Given the description of an element on the screen output the (x, y) to click on. 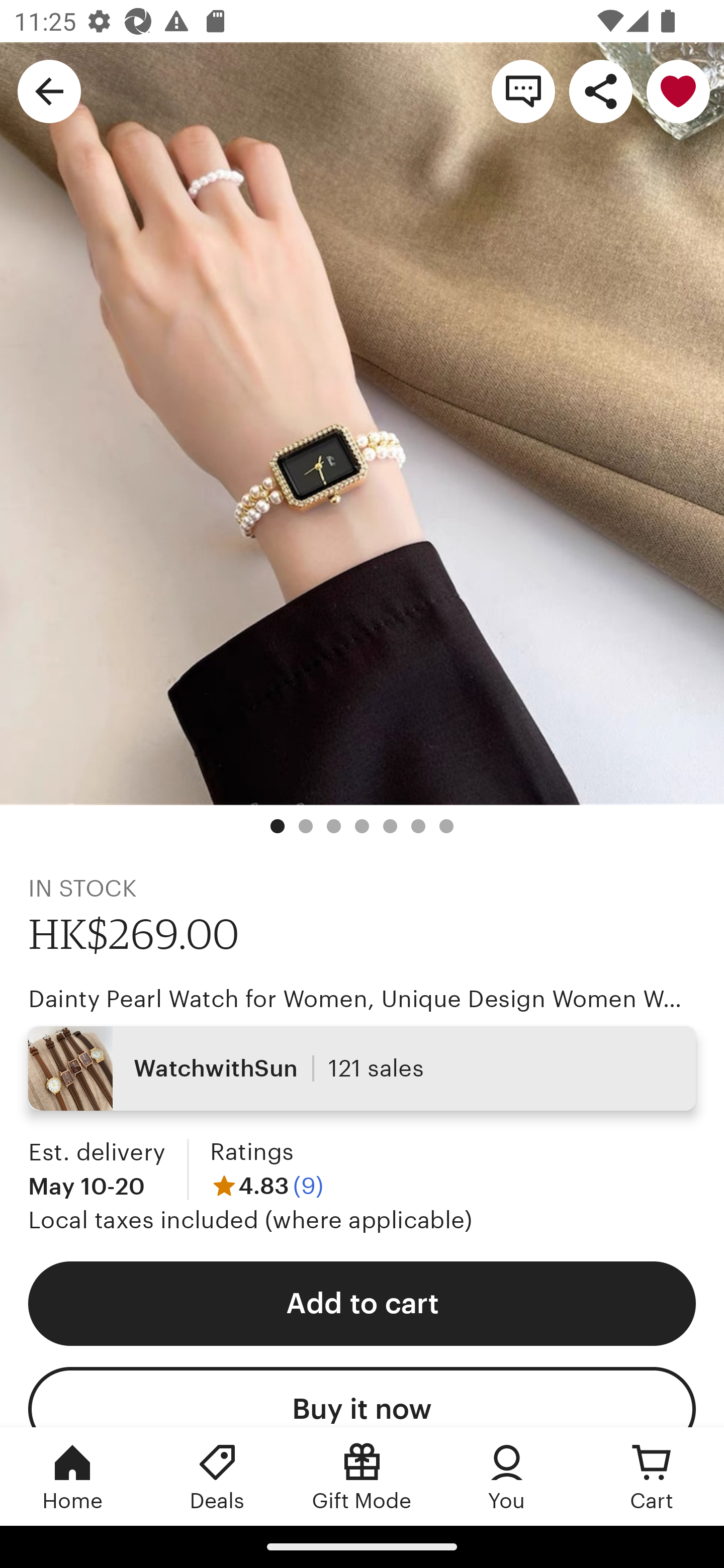
Navigate up (49, 90)
Contact shop (523, 90)
Share (600, 90)
WatchwithSun 121 sales (361, 1067)
Ratings (251, 1151)
4.83 (9) (266, 1185)
Add to cart (361, 1302)
Buy it now (361, 1396)
Deals (216, 1475)
Gift Mode (361, 1475)
You (506, 1475)
Cart (651, 1475)
